Given the description of an element on the screen output the (x, y) to click on. 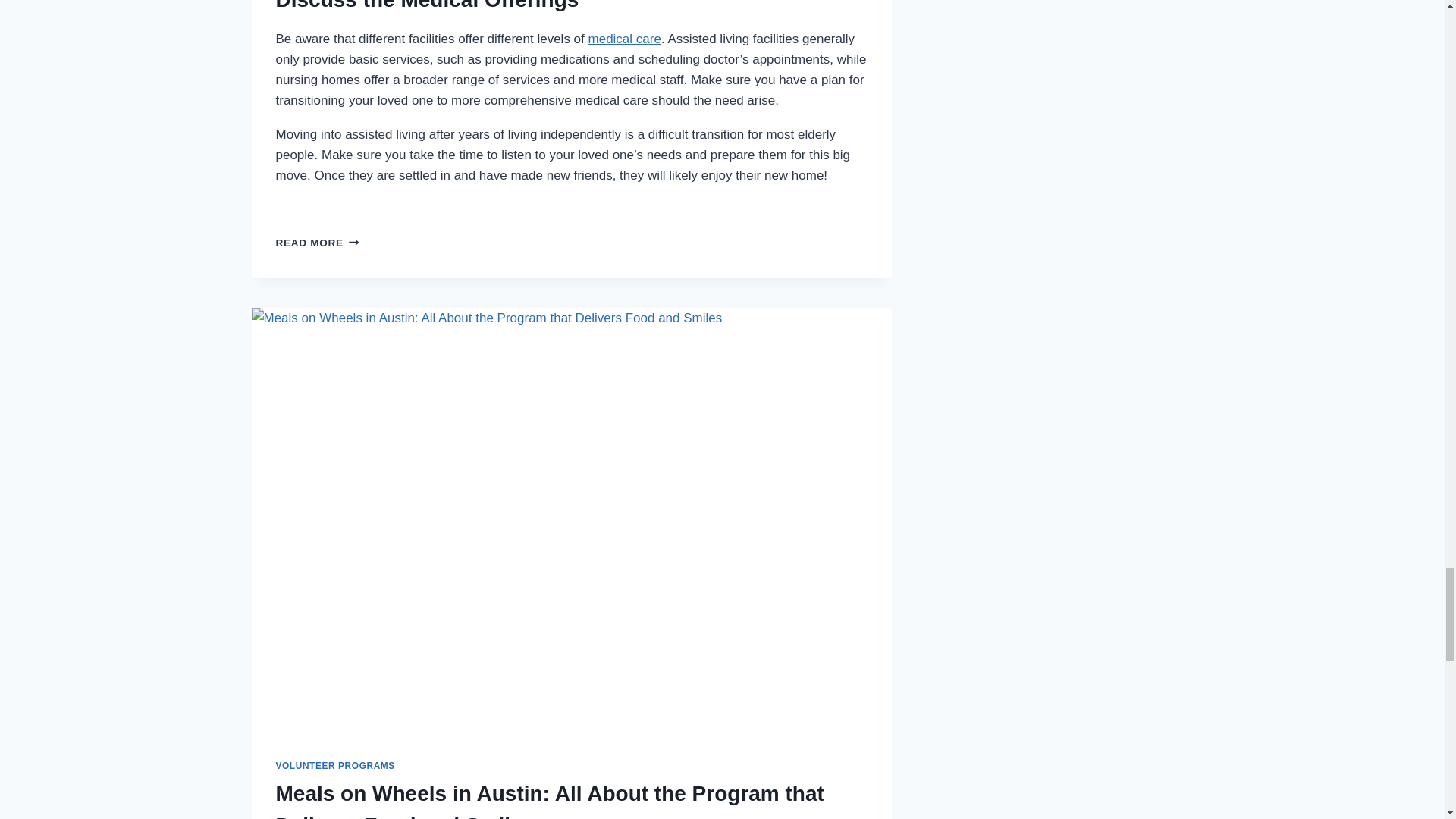
medical care (624, 38)
VOLUNTEER PROGRAMS (335, 765)
